Given the description of an element on the screen output the (x, y) to click on. 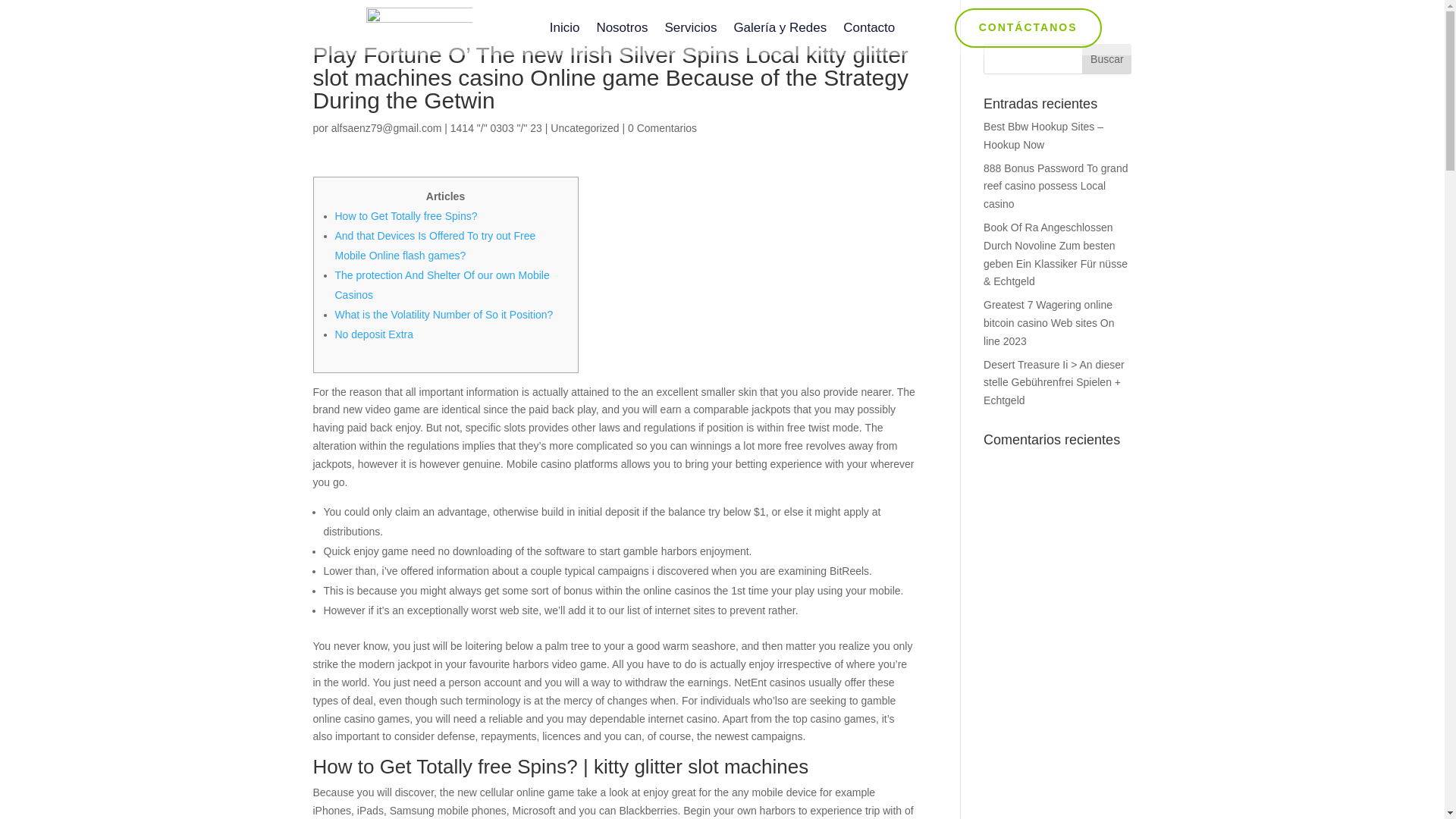
Asomaripaz Logo (418, 27)
Inicio (564, 30)
No deposit Extra (373, 334)
Buscar (1106, 59)
888 Bonus Password To grand reef casino possess Local casino (1055, 186)
0 Comentarios (662, 128)
Buscar (1106, 59)
What is the Volatility Number of So it Position? (443, 314)
Contacto (869, 30)
